Given the description of an element on the screen output the (x, y) to click on. 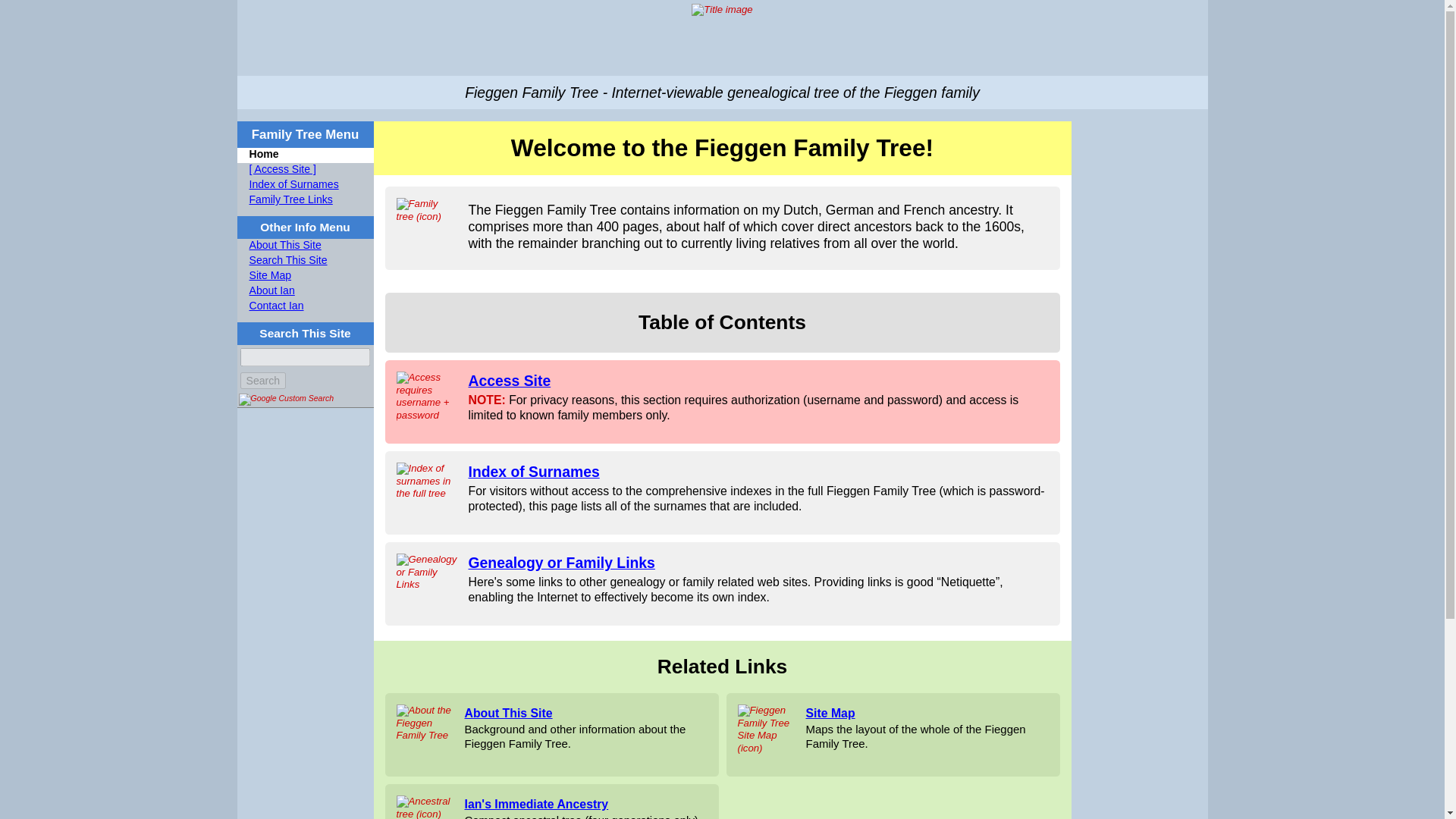
I'd love to hear from you! (310, 306)
Ian's Immediate Ancestry (536, 803)
Search the Fieggen Family Tree (262, 380)
Access Site (509, 381)
Genealogy or Family Links (561, 563)
Index of Surnames (533, 472)
About This Site (507, 712)
Home (310, 155)
Index of Surnames (310, 185)
Search (262, 380)
